Given the description of an element on the screen output the (x, y) to click on. 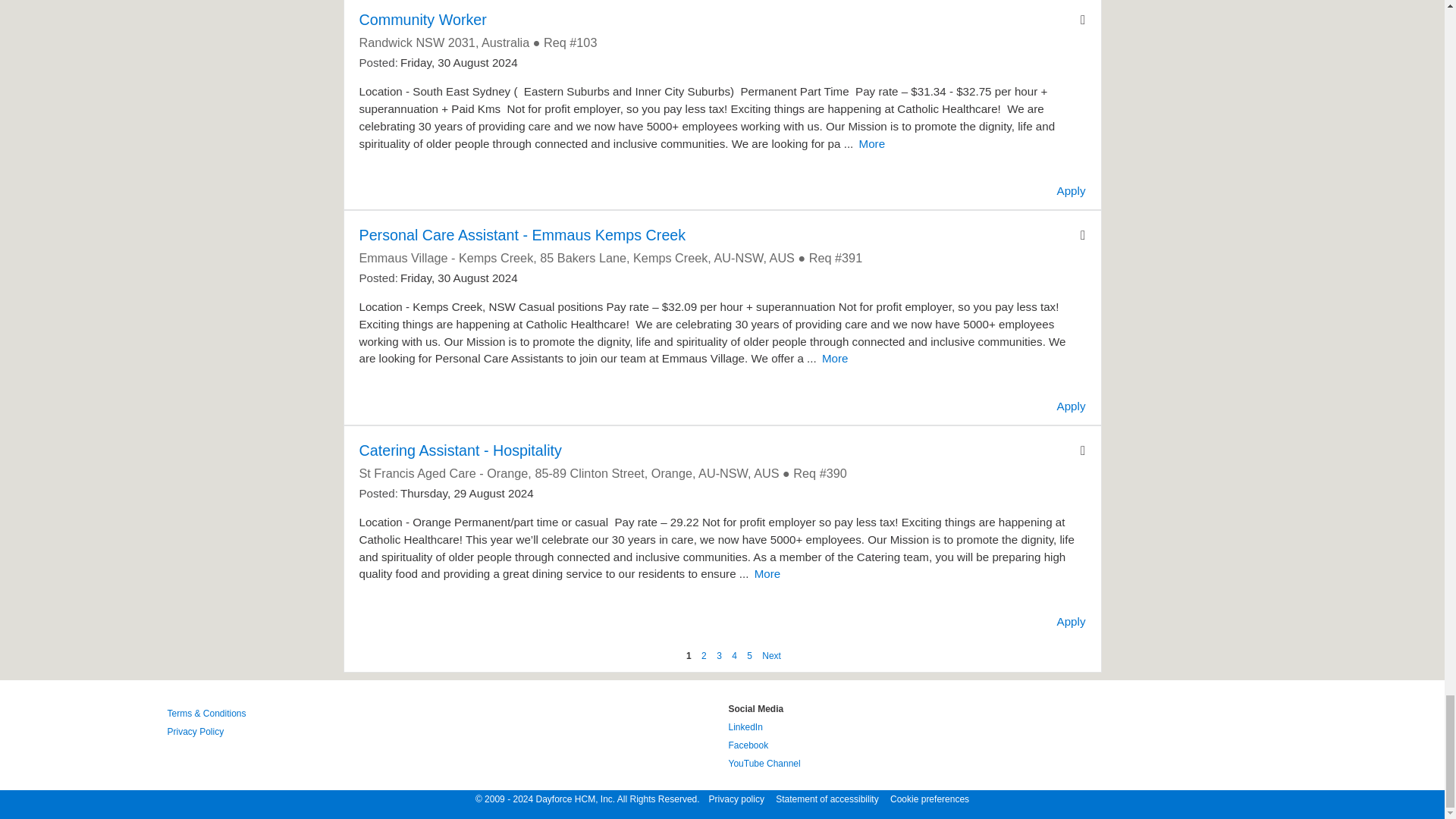
Privacy Policy  (195, 731)
YouTube Channel (763, 763)
Facebook (748, 745)
LinkedIn  (744, 726)
